Given the description of an element on the screen output the (x, y) to click on. 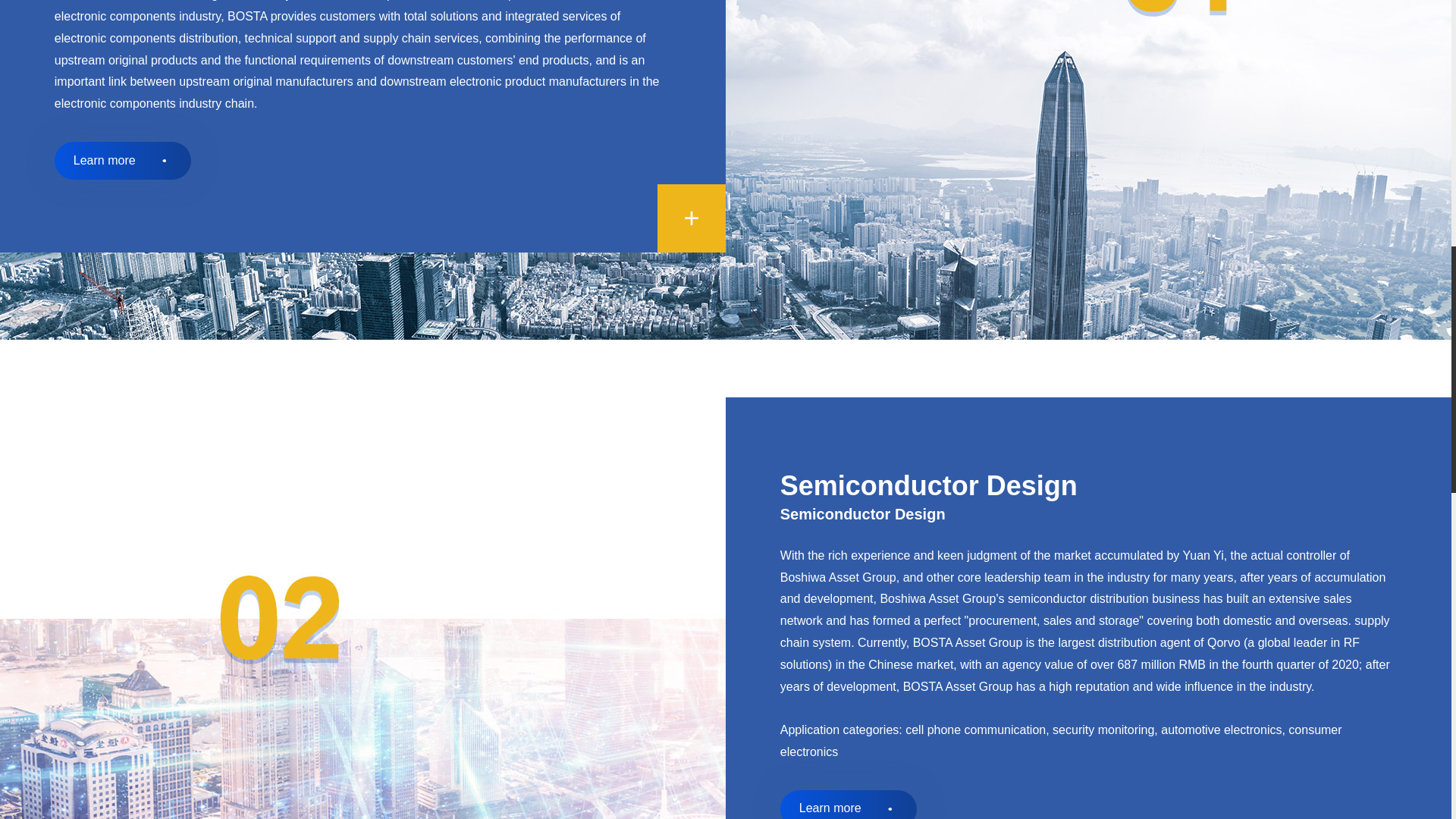
Learn more (122, 160)
Learn more (848, 804)
